Given the description of an element on the screen output the (x, y) to click on. 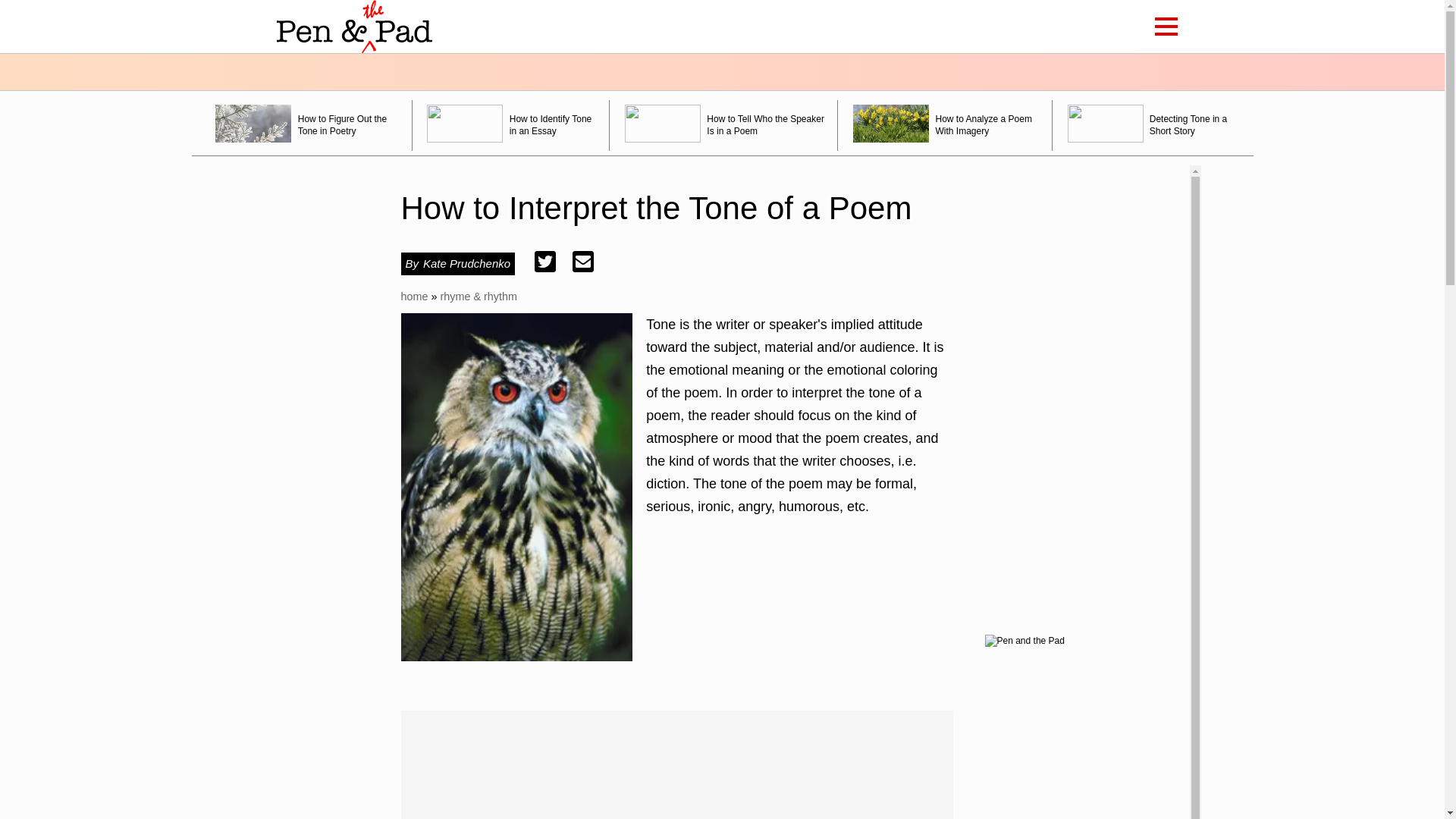
How to Tell Who the Speaker Is in a Poem (724, 124)
How to Identify Tone in an Essay (511, 124)
home (414, 296)
How to Analyze a Poem With Imagery (945, 124)
How to Figure Out the Tone in Poetry (306, 124)
